Given the description of an element on the screen output the (x, y) to click on. 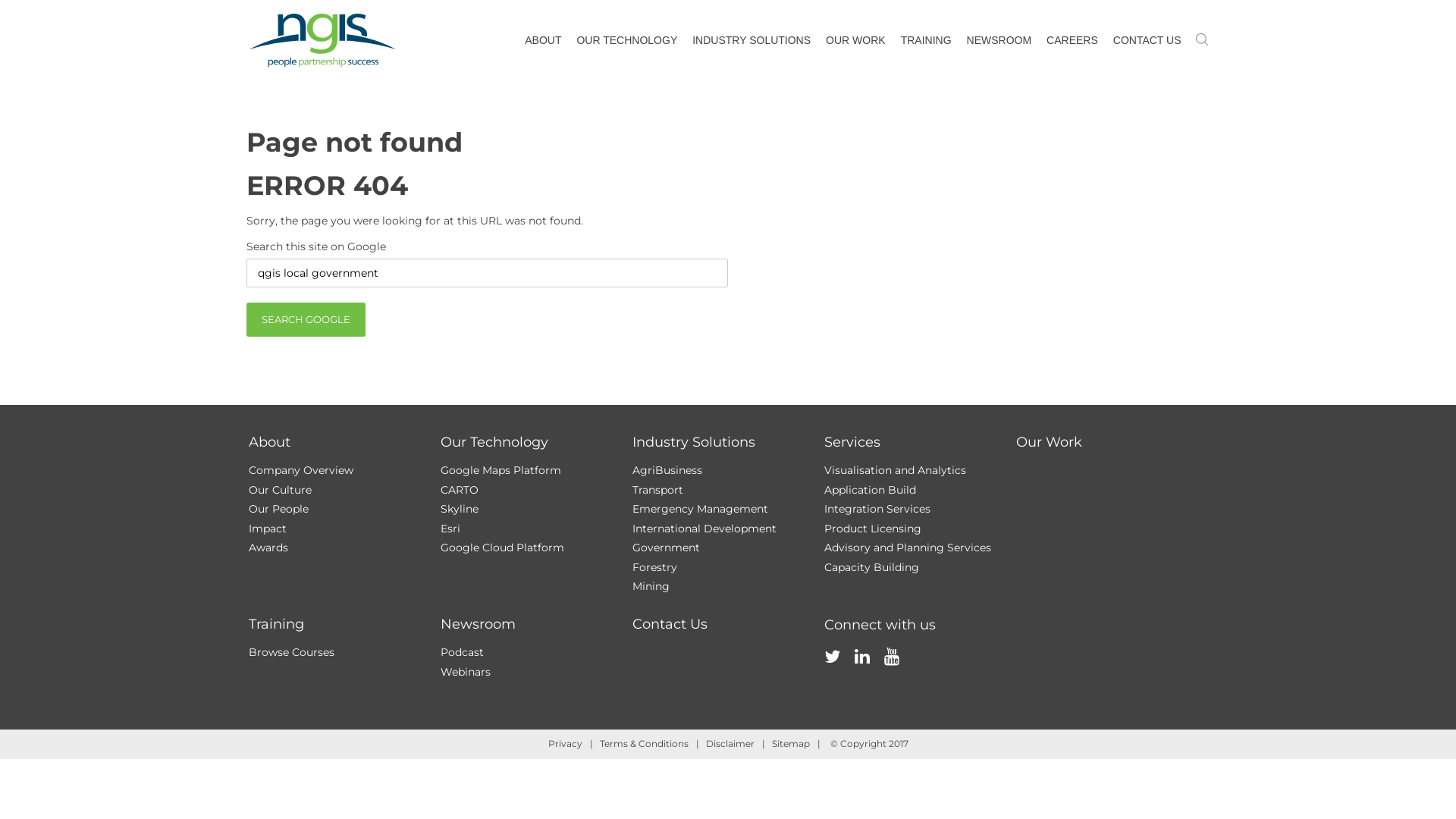
Our Technology Element type: text (493, 441)
Disclaimer Element type: text (729, 743)
About Element type: text (269, 441)
Advisory and Planning Services Element type: text (906, 547)
Visualisation and Analytics Element type: text (894, 469)
Google Cloud Platform Element type: text (501, 547)
Forestry Element type: text (654, 566)
Newsroom Element type: text (476, 623)
Skyline Element type: text (458, 508)
Browse Courses Element type: text (291, 651)
Esri Element type: text (449, 528)
Privacy Element type: text (564, 743)
Our Culture Element type: text (279, 489)
SEARCH GOOGLE Element type: text (305, 319)
OUR TECHNOLOGY Element type: text (626, 40)
Podcast Element type: text (461, 651)
TRAINING Element type: text (926, 40)
Awards Element type: text (268, 547)
Webinars Element type: text (464, 671)
Twitter Element type: text (831, 672)
Government Element type: text (665, 547)
Company Overview Element type: text (300, 469)
ABOUT Element type: text (542, 40)
Mining Element type: text (650, 586)
NEWSROOM Element type: text (999, 40)
Our Work Element type: text (1049, 441)
Services Element type: text (851, 441)
Our People Element type: text (278, 508)
Application Build Element type: text (869, 489)
Emergency Management Element type: text (700, 508)
OUR WORK Element type: text (855, 40)
Transport Element type: text (657, 489)
Terms & Conditions Element type: text (643, 743)
Impact Element type: text (267, 528)
INDUSTRY SOLUTIONS Element type: text (751, 40)
Sitemap Element type: text (790, 743)
CAREERS Element type: text (1071, 40)
International Development Element type: text (704, 528)
Training Element type: text (276, 623)
Industry Solutions Element type: text (693, 441)
YouTube Element type: text (891, 672)
CARTO Element type: text (458, 489)
Product Licensing Element type: text (871, 528)
NGIS Element type: hover (322, 39)
Contact Us Element type: text (669, 623)
CONTACT US Element type: text (1147, 40)
Integration Services Element type: text (876, 508)
AgriBusiness Element type: text (667, 469)
LinkedIn Element type: text (861, 672)
Capacity Building Element type: text (870, 566)
Google Maps Platform Element type: text (499, 469)
